Given the description of an element on the screen output the (x, y) to click on. 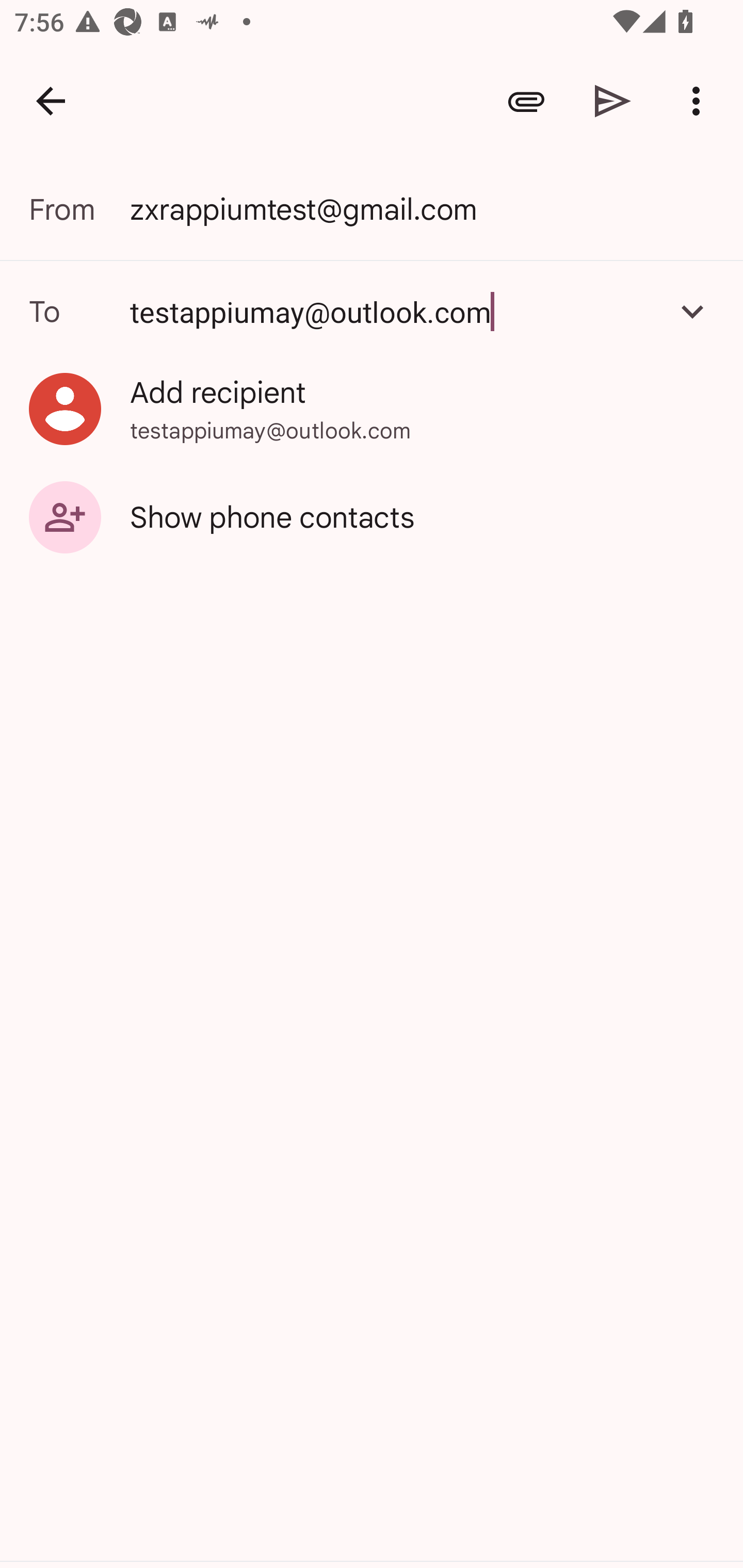
Navigate up (50, 101)
Attach file (525, 101)
Send (612, 101)
More options (699, 101)
From (79, 209)
Add Cc/Bcc (692, 311)
testappiumay@outlook.com (371, 311)
testappiumay@outlook.com (393, 311)
Add recipient testappiumay@outlook.com (371, 408)
Show phone contacts (371, 516)
